Given the description of an element on the screen output the (x, y) to click on. 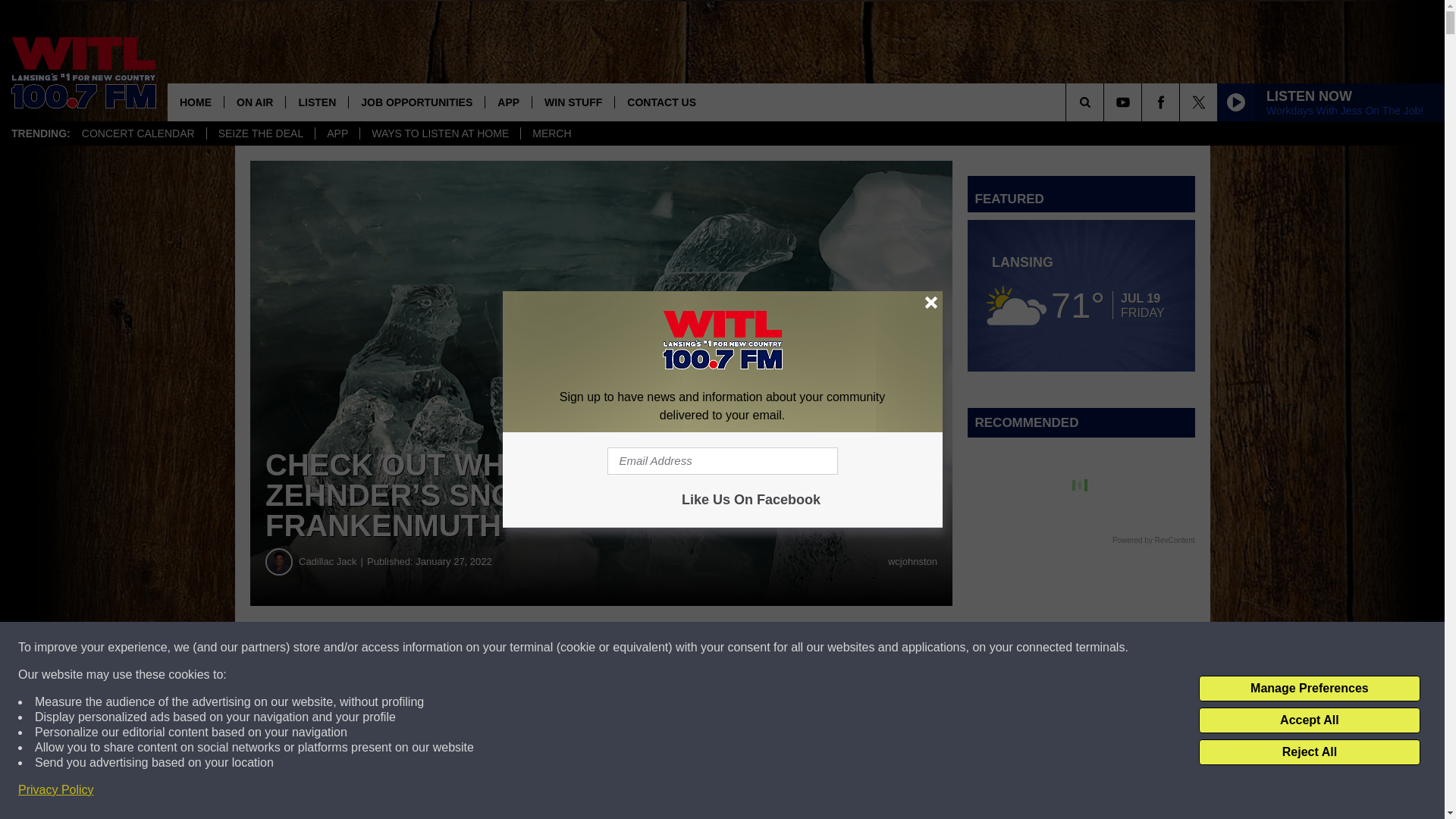
WIN STUFF (572, 102)
Accept All (1309, 720)
Email Address (722, 461)
Reject All (1309, 751)
SEIZE THE DEAL (260, 133)
SEARCH (1106, 102)
ON AIR (254, 102)
WAYS TO LISTEN AT HOME (439, 133)
CONTACT US (660, 102)
JOB OPPORTUNITIES (415, 102)
CONCERT CALENDAR (137, 133)
APP (507, 102)
Lansing Weather (1081, 295)
HOME (195, 102)
Privacy Policy (55, 789)
